Given the description of an element on the screen output the (x, y) to click on. 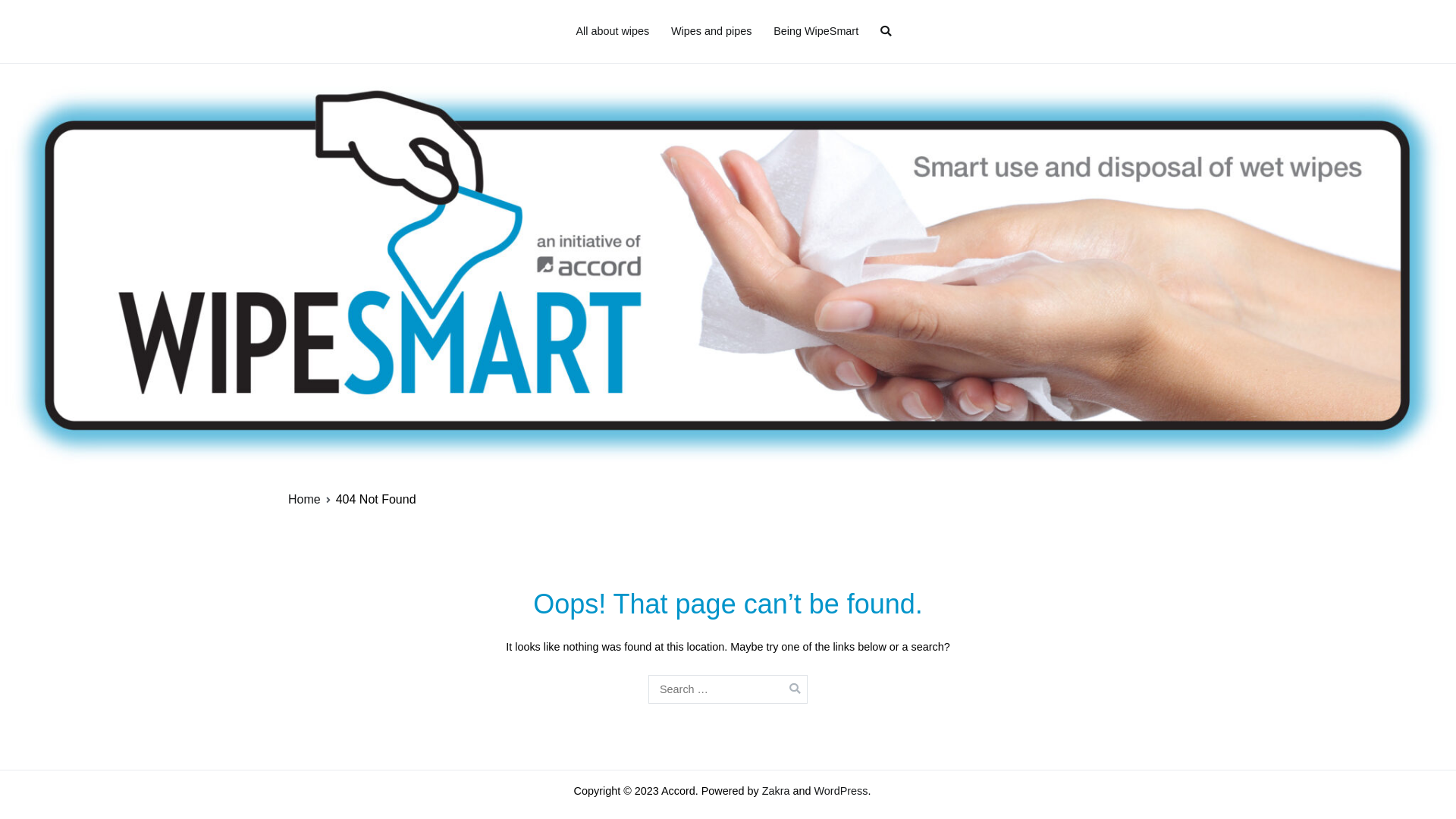
Home Element type: text (304, 498)
Zakra Element type: text (776, 790)
WipeSmart Element type: text (763, 20)
WordPress Element type: text (841, 790)
Search Element type: text (28, 13)
Wipes and pipes Element type: text (711, 31)
Being WipeSmart Element type: text (815, 31)
All about wipes Element type: text (612, 31)
